Given the description of an element on the screen output the (x, y) to click on. 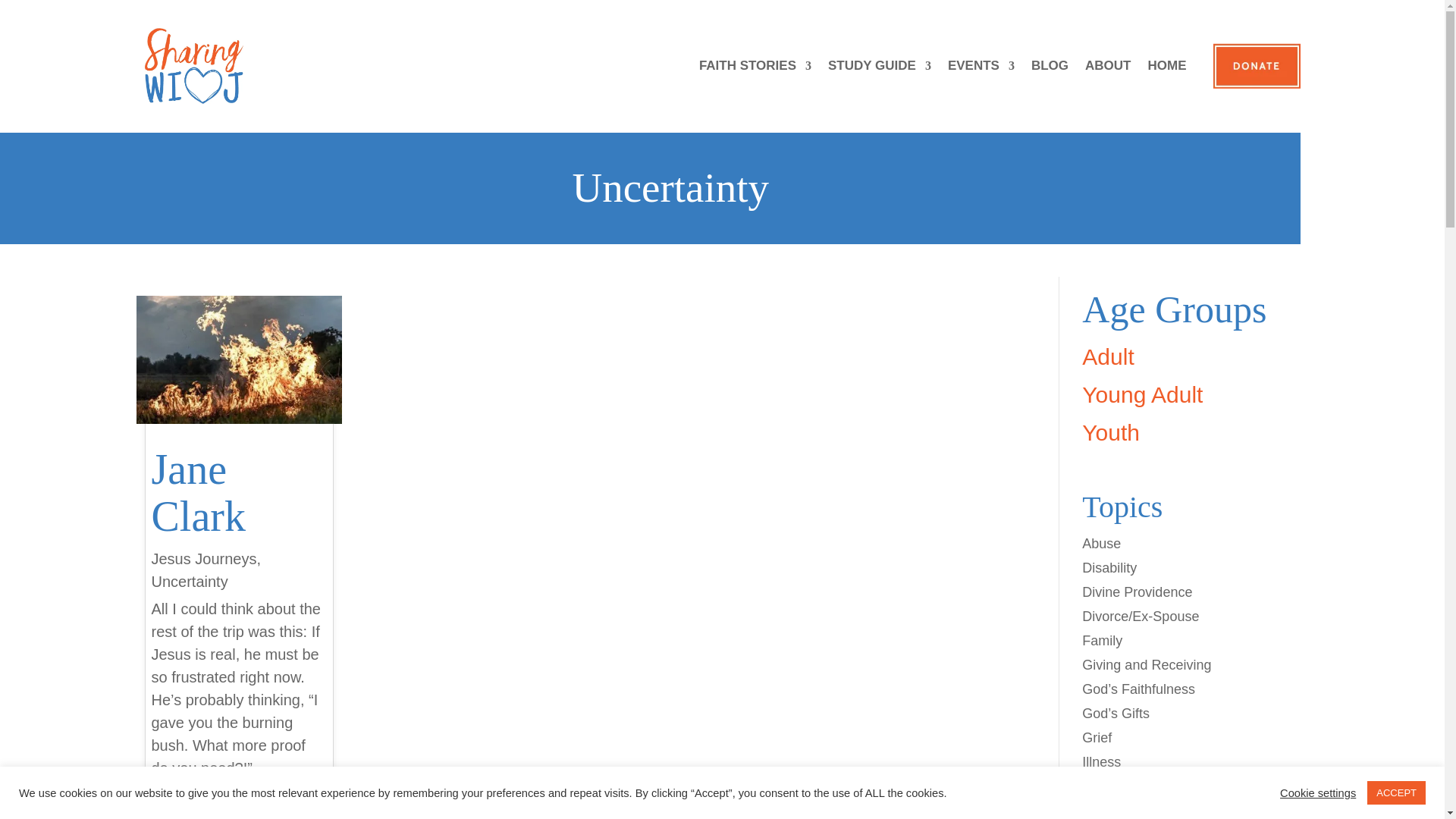
FAITH STORIES (754, 65)
Jesus Journeys (204, 558)
Donate! (1256, 66)
Uncertainty (189, 581)
Read More (189, 790)
Jane Clark (198, 492)
STUDY GUIDE (879, 65)
